Given the description of an element on the screen output the (x, y) to click on. 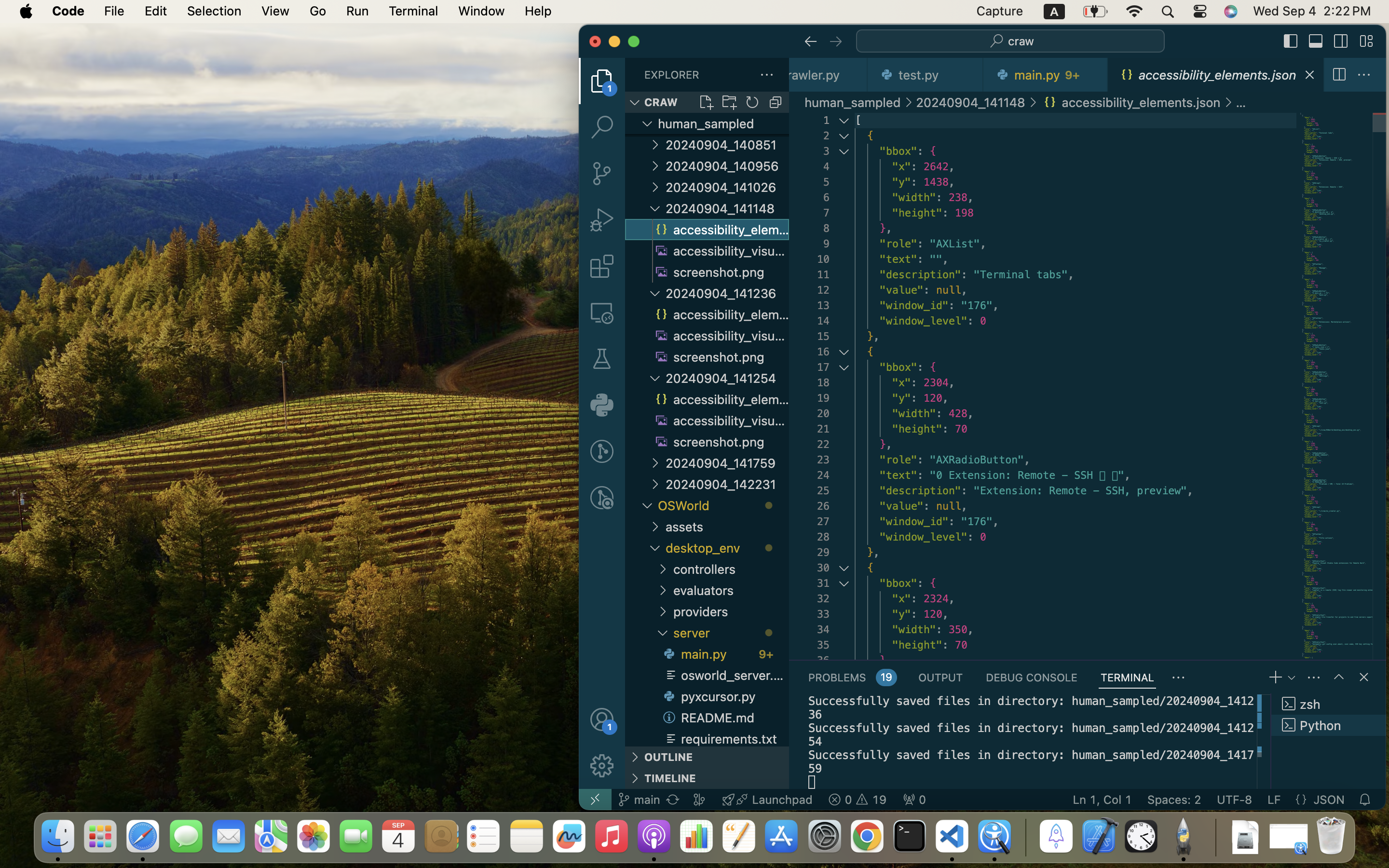
pyxcursor.py  Element type: AXGroup (724, 695)
accessibility_elements.json  Element type: AXGroup (1130, 101)
 Element type: AXCheckBox (1316, 41)
1  Element type: AXRadioButton (601, 80)
 Element type: AXStaticText (601, 719)
